Given the description of an element on the screen output the (x, y) to click on. 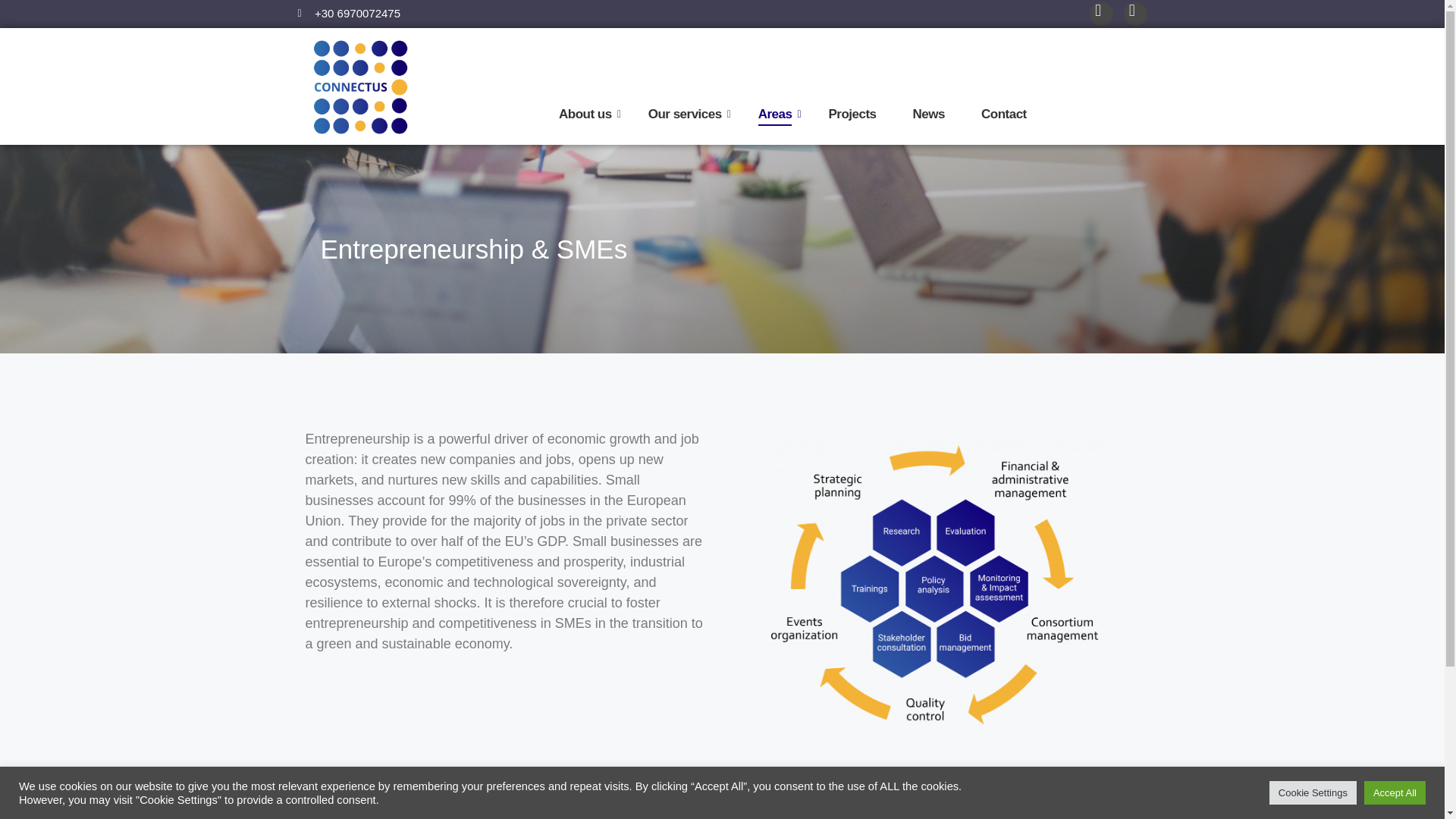
About us (584, 115)
Our services (685, 115)
Contact (1003, 115)
Areas (775, 115)
News (928, 115)
Projects (851, 115)
